Given the description of an element on the screen output the (x, y) to click on. 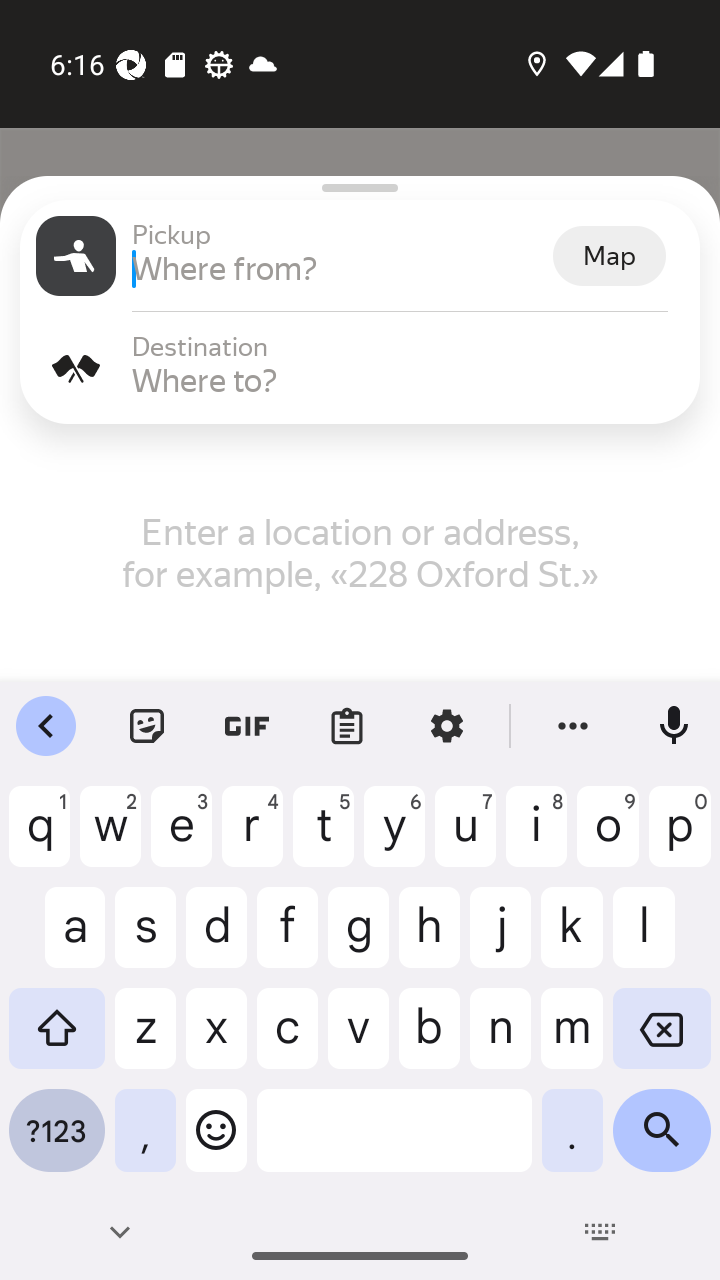
Pickup Pickup Where from? Map (359, 255)
Map (609, 256)
Where from? (340, 268)
Destination Destination Where to? (359, 367)
Where to? (407, 380)
